Given the description of an element on the screen output the (x, y) to click on. 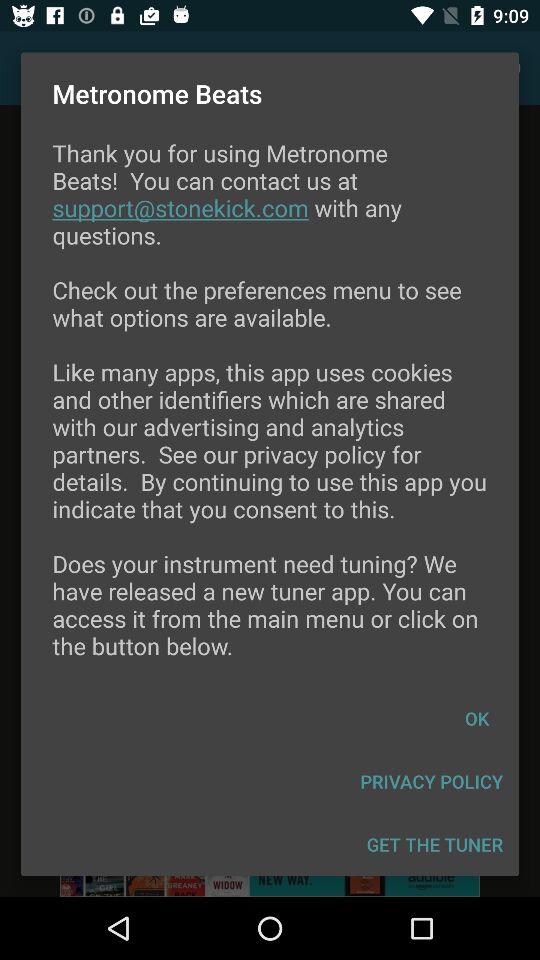
turn off the item at the center (270, 411)
